Given the description of an element on the screen output the (x, y) to click on. 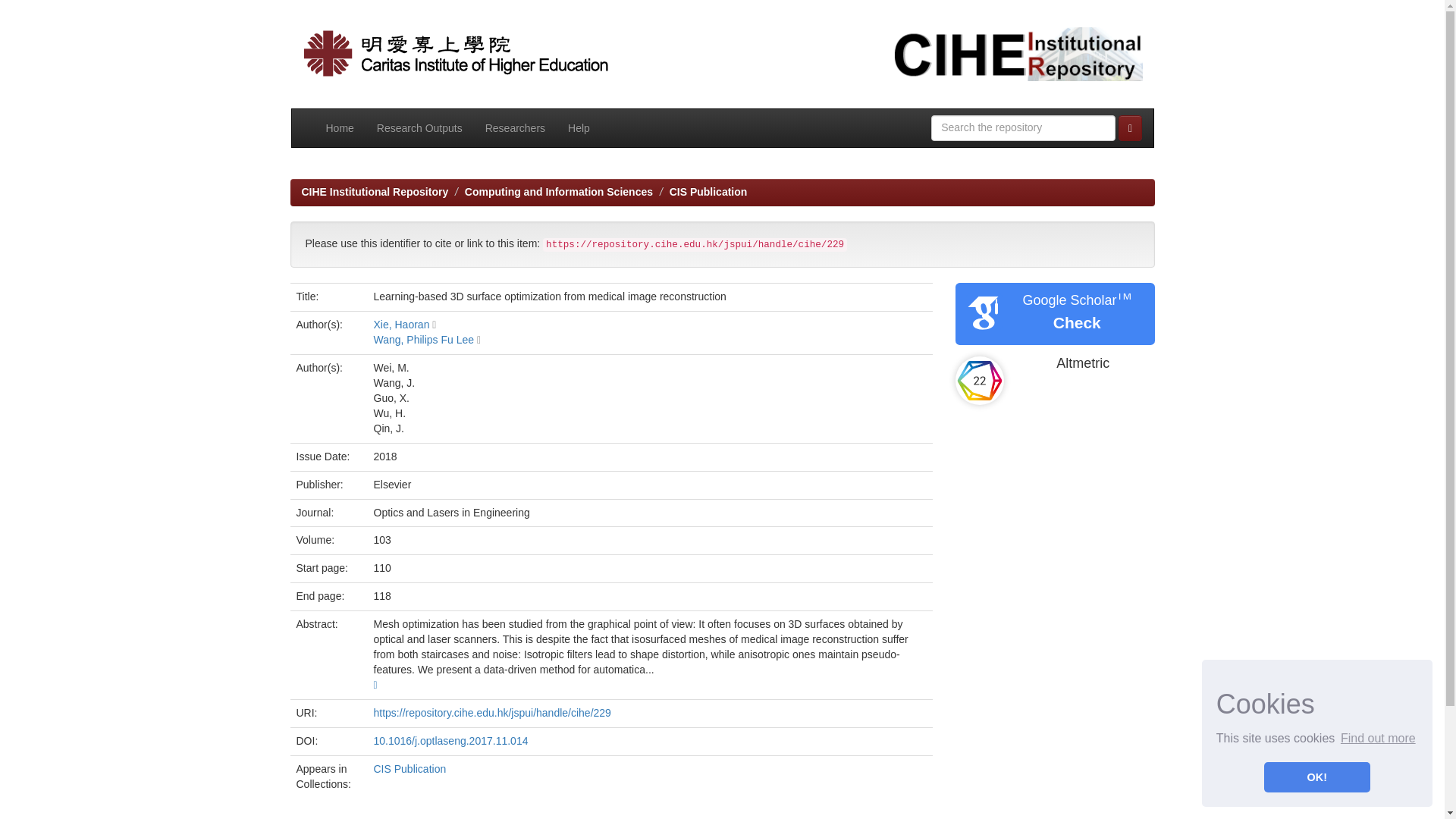
22 (979, 380)
Check (1076, 322)
CIS Publication (408, 768)
Researchers (515, 127)
Research Outputs (419, 127)
Xie, Haoran (400, 324)
Computing and Information Sciences (558, 191)
Home (339, 127)
Help (578, 127)
Wang, Philips Fu Lee (423, 339)
